Given the description of an element on the screen output the (x, y) to click on. 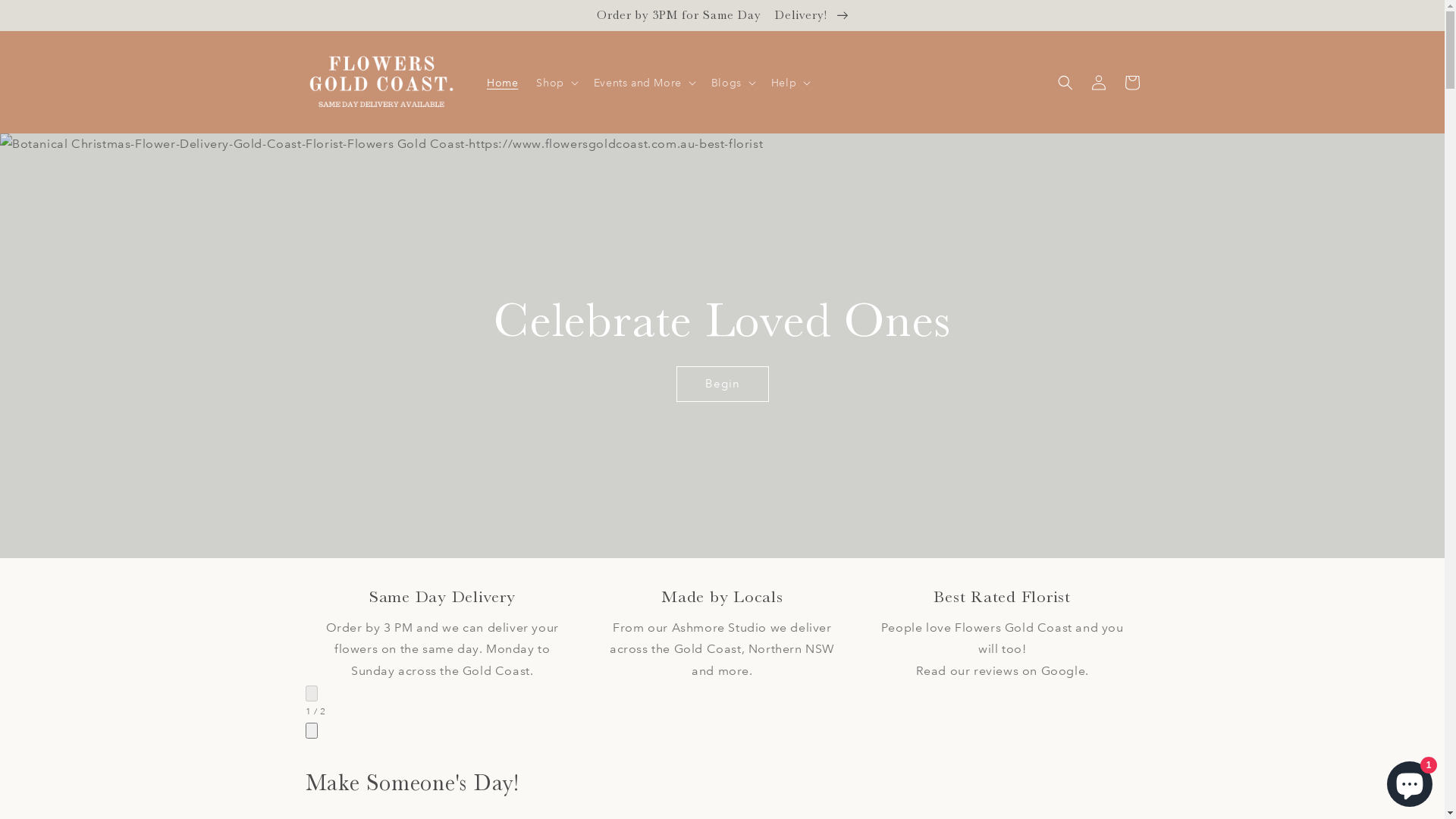
Log in Element type: text (1097, 82)
Shopify online store chat Element type: hover (1409, 780)
Home Element type: text (502, 82)
Cart Element type: text (1131, 82)
Begin Element type: text (722, 383)
